Given the description of an element on the screen output the (x, y) to click on. 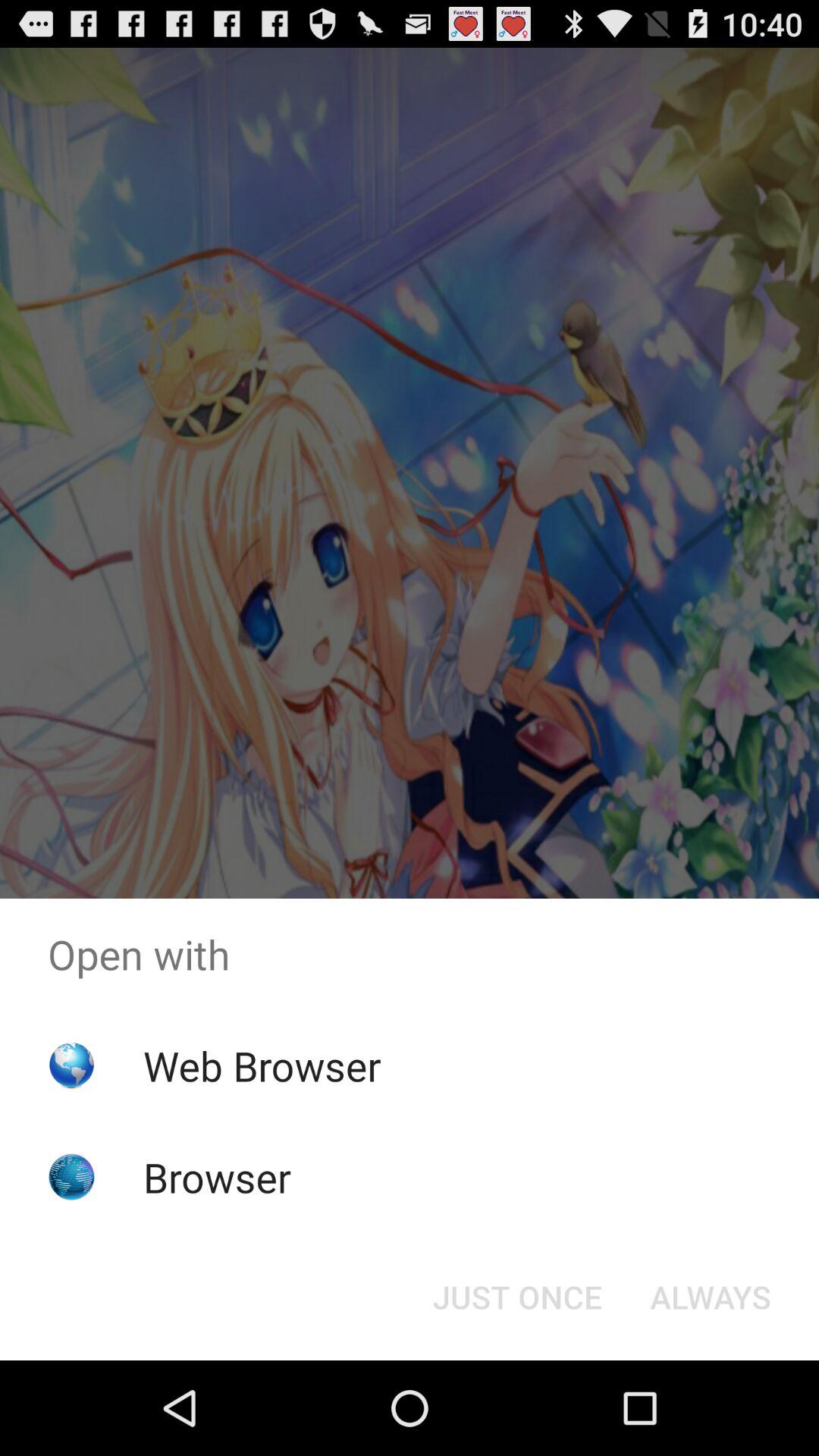
flip until just once icon (517, 1296)
